Given the description of an element on the screen output the (x, y) to click on. 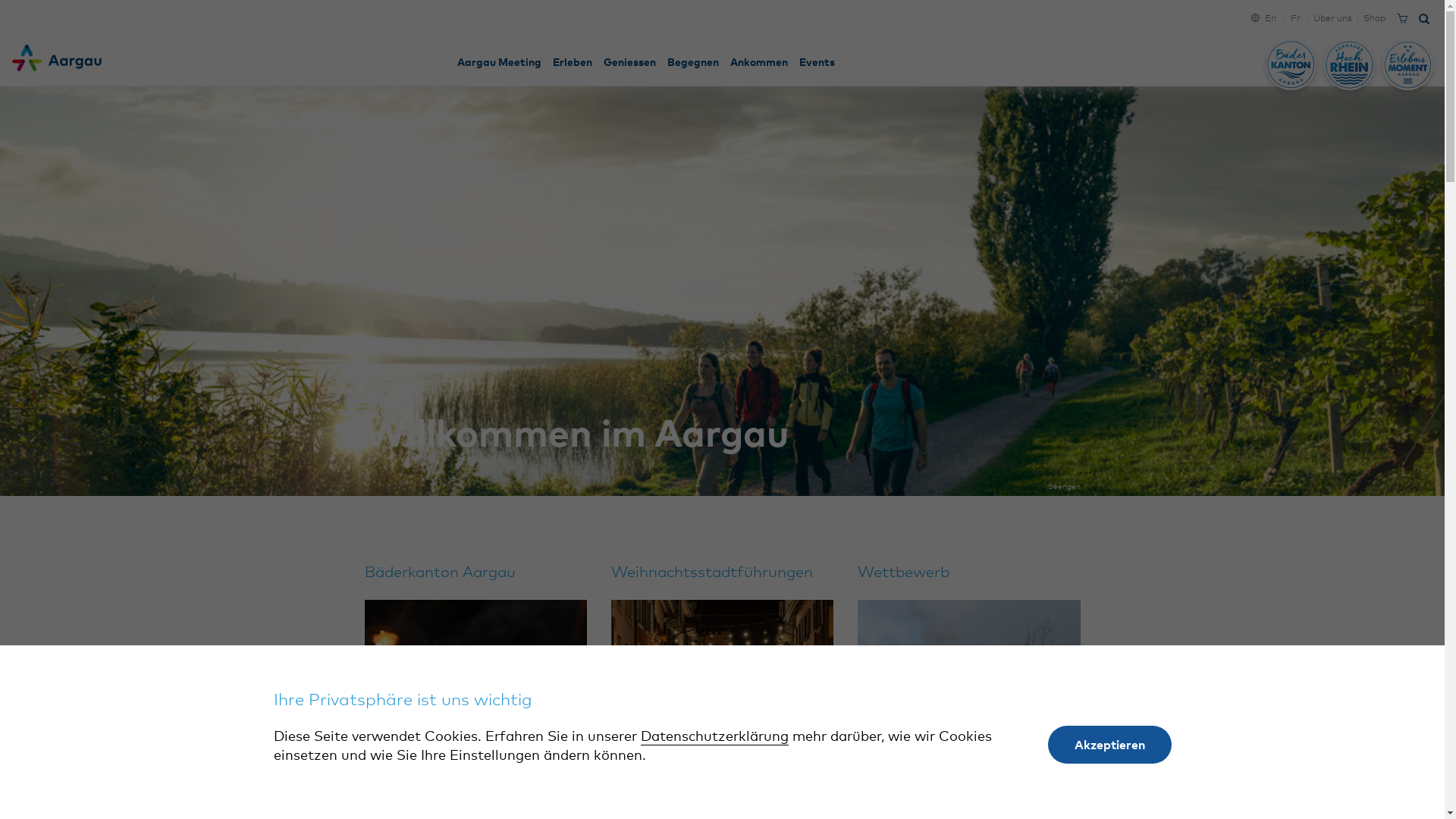
Begegnen Element type: text (692, 62)
Erleben Element type: text (571, 62)
Fr Element type: text (1295, 18)
Geniessen Element type: text (629, 62)
Nach oben Element type: hover (1395, 725)
Ankommen Element type: text (758, 62)
Events Element type: text (816, 62)
Aargau Meeting Element type: text (498, 62)
Akzeptieren Element type: text (1109, 744)
Shop Element type: text (1374, 18)
En Element type: text (1270, 18)
